Given the description of an element on the screen output the (x, y) to click on. 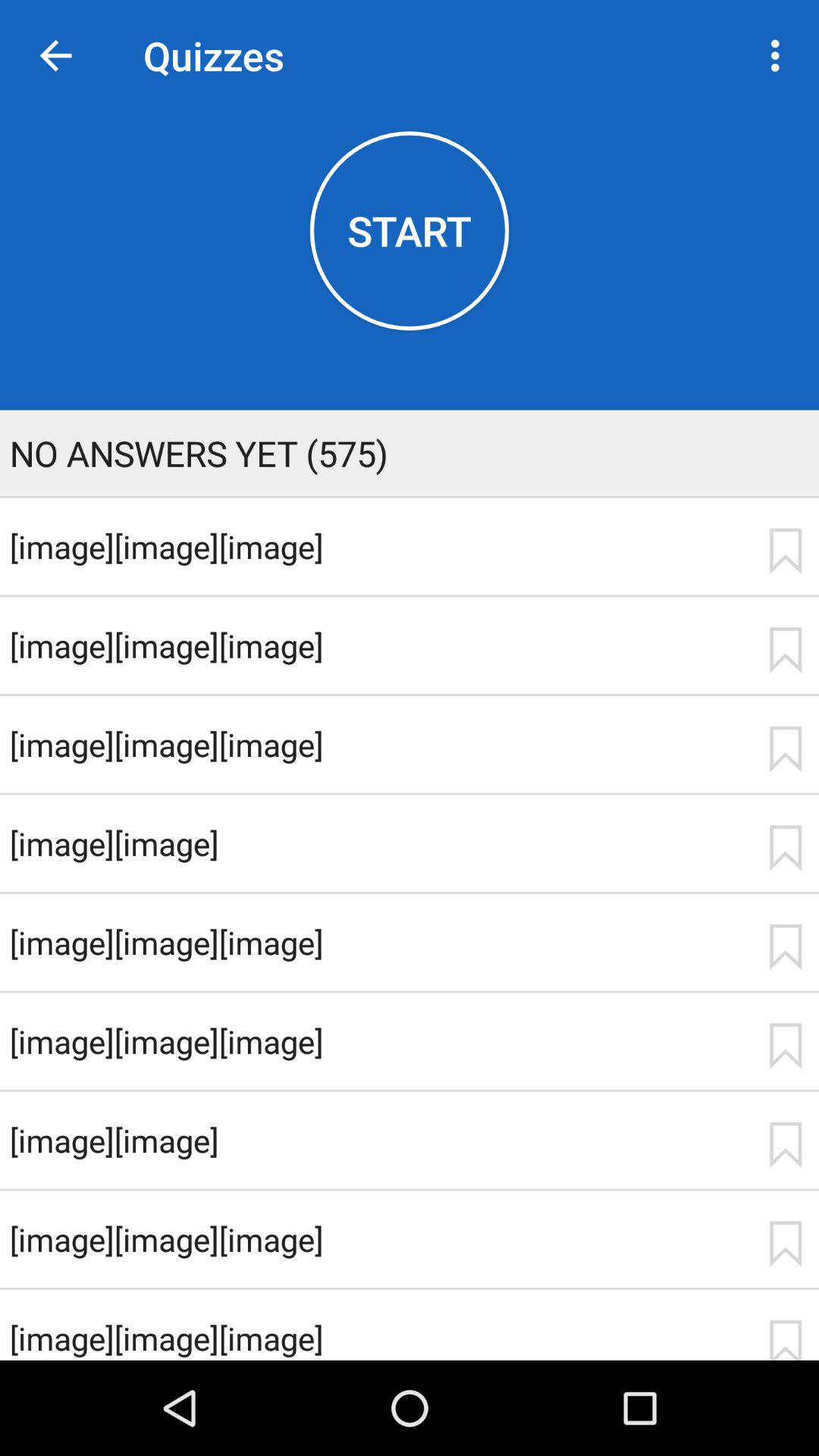
press item to the right of the [image][image] item (784, 848)
